Given the description of an element on the screen output the (x, y) to click on. 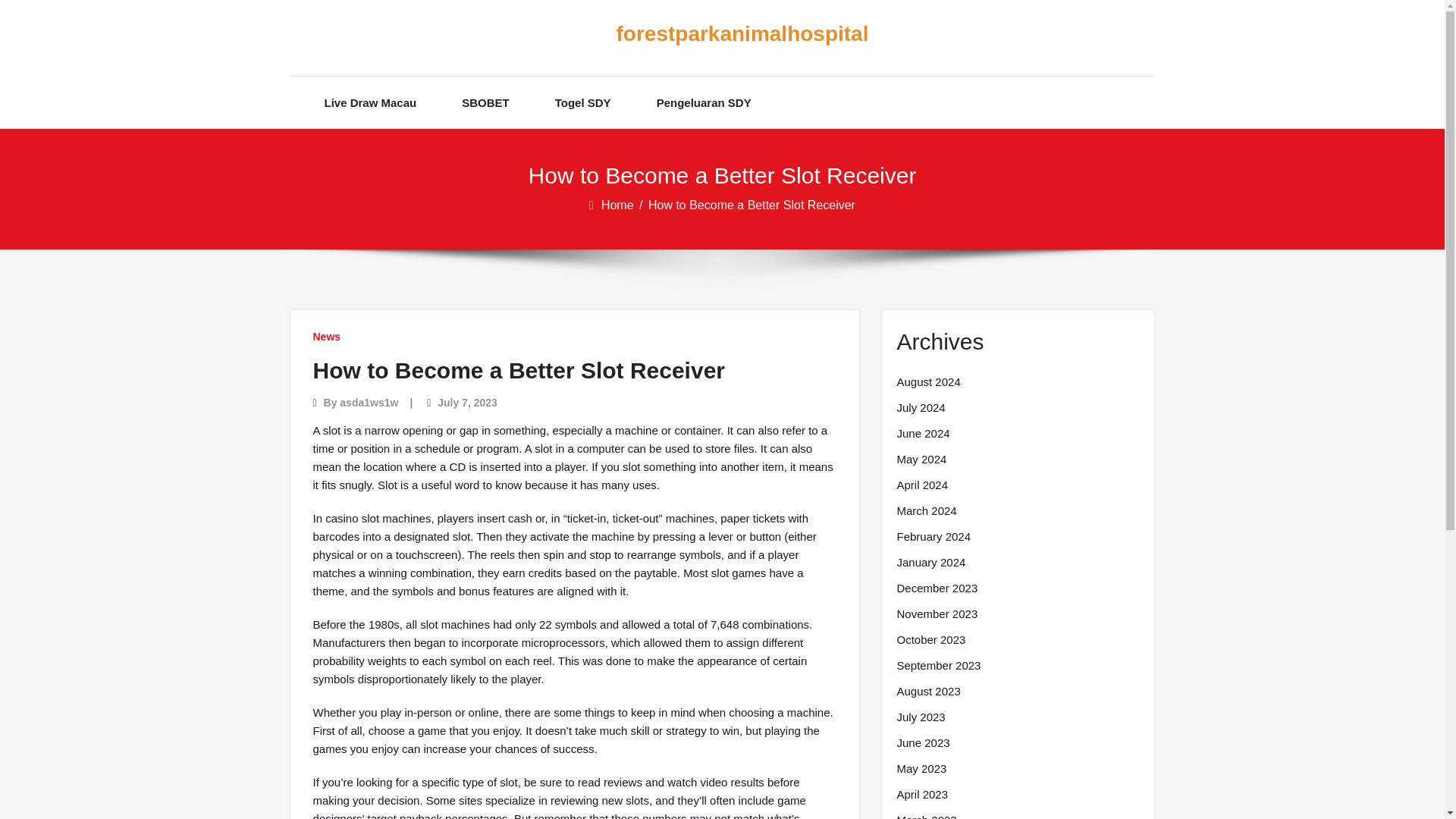
May 2023 (921, 769)
forestparkanimalhospital (710, 34)
July 7, 2023 (467, 402)
December 2023 (936, 588)
May 2024 (921, 459)
Home (618, 205)
Togel SDY (582, 102)
Live Draw Macau (370, 102)
October 2023 (930, 639)
March 2023 (926, 815)
August 2024 (927, 382)
April 2023 (921, 794)
January 2024 (930, 562)
September 2023 (937, 665)
Pengeluaran SDY (703, 102)
